Given the description of an element on the screen output the (x, y) to click on. 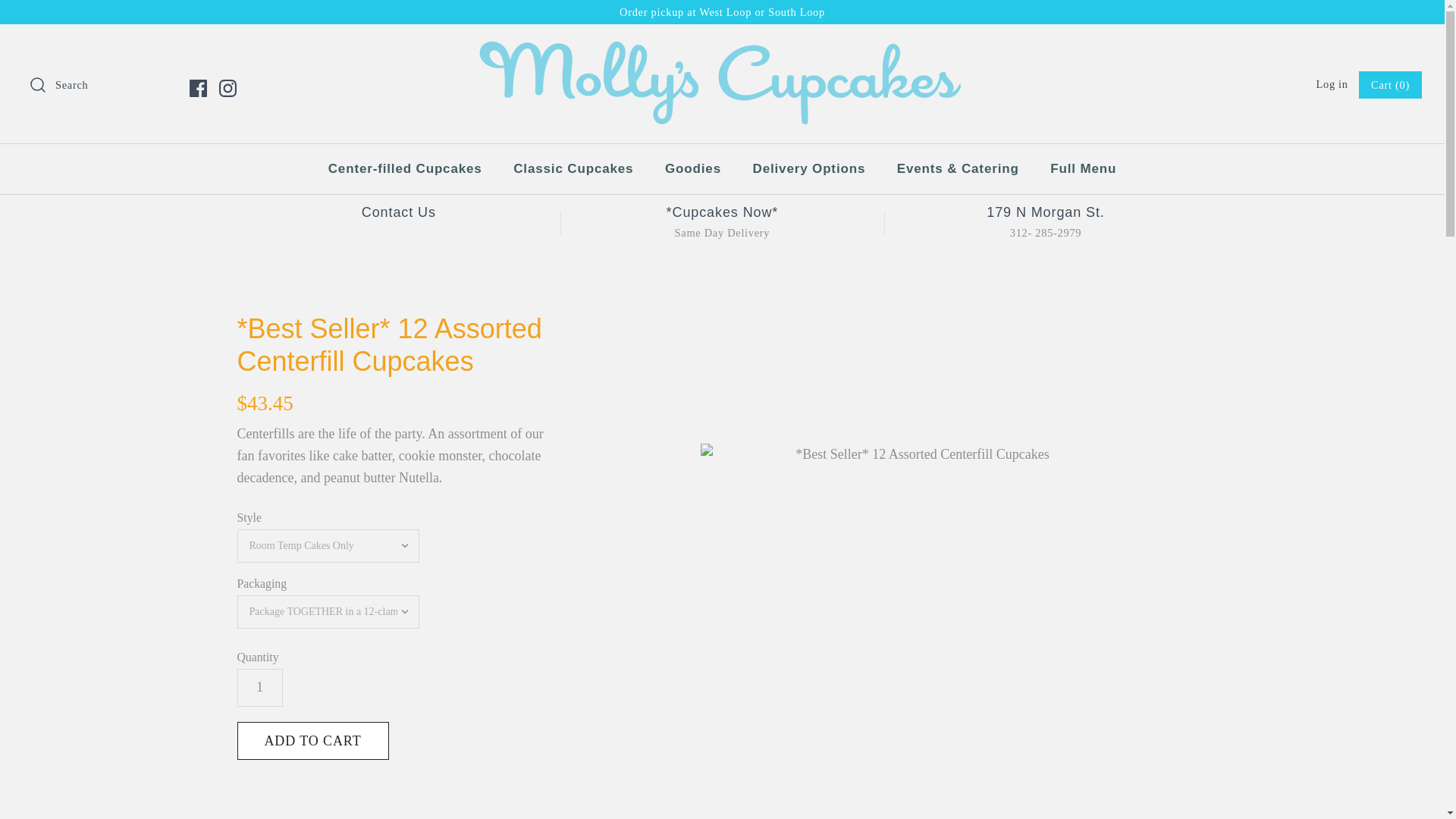
Goodies (692, 169)
Facebook (197, 88)
Add to Cart (311, 740)
Instagram (227, 88)
Delivery Options (809, 169)
Classic Cupcakes (572, 169)
Full Menu (1082, 169)
1 (258, 687)
Molly's Cupcakes West Loop (722, 49)
Instagram (227, 88)
Facebook (197, 88)
Contact Us (397, 212)
Log in (1332, 83)
Instagram (227, 88)
Add to Cart (311, 740)
